Given the description of an element on the screen output the (x, y) to click on. 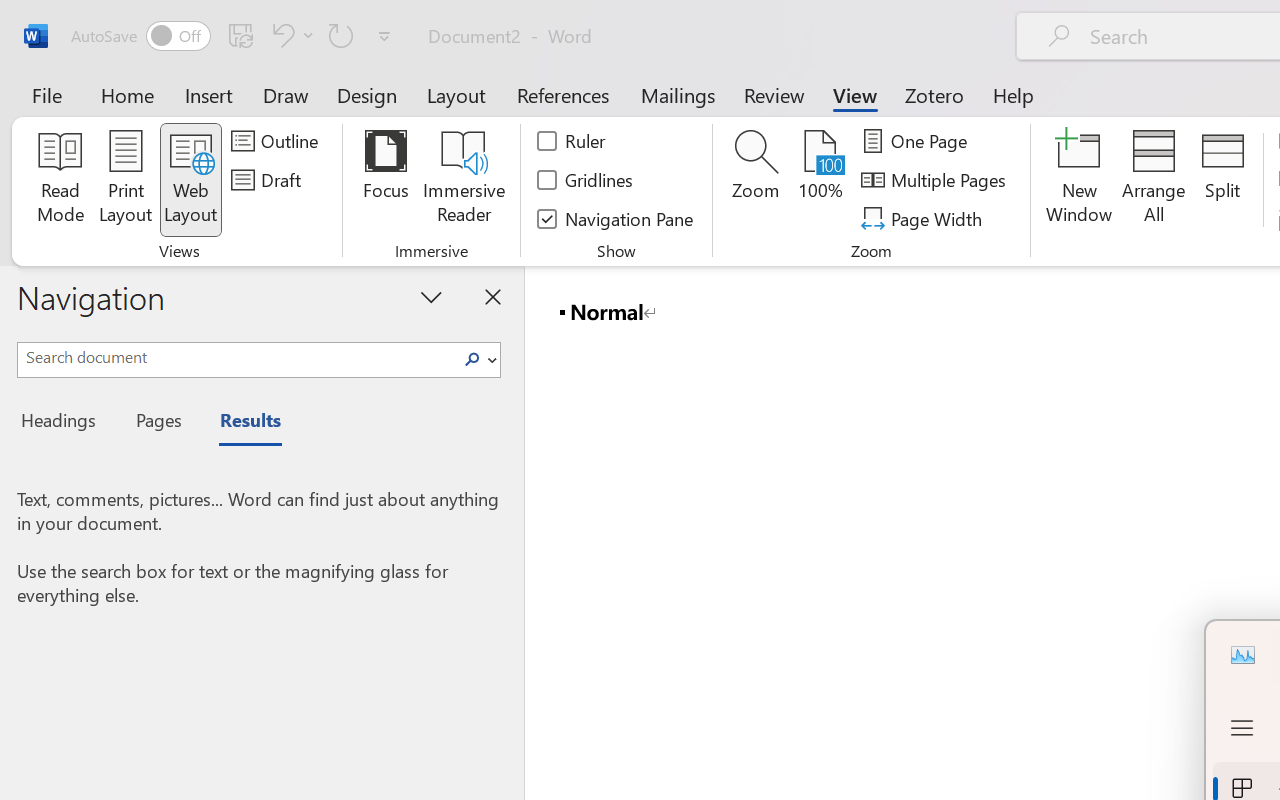
Results (240, 423)
Immersive Reader (464, 179)
Headings (64, 423)
